Given the description of an element on the screen output the (x, y) to click on. 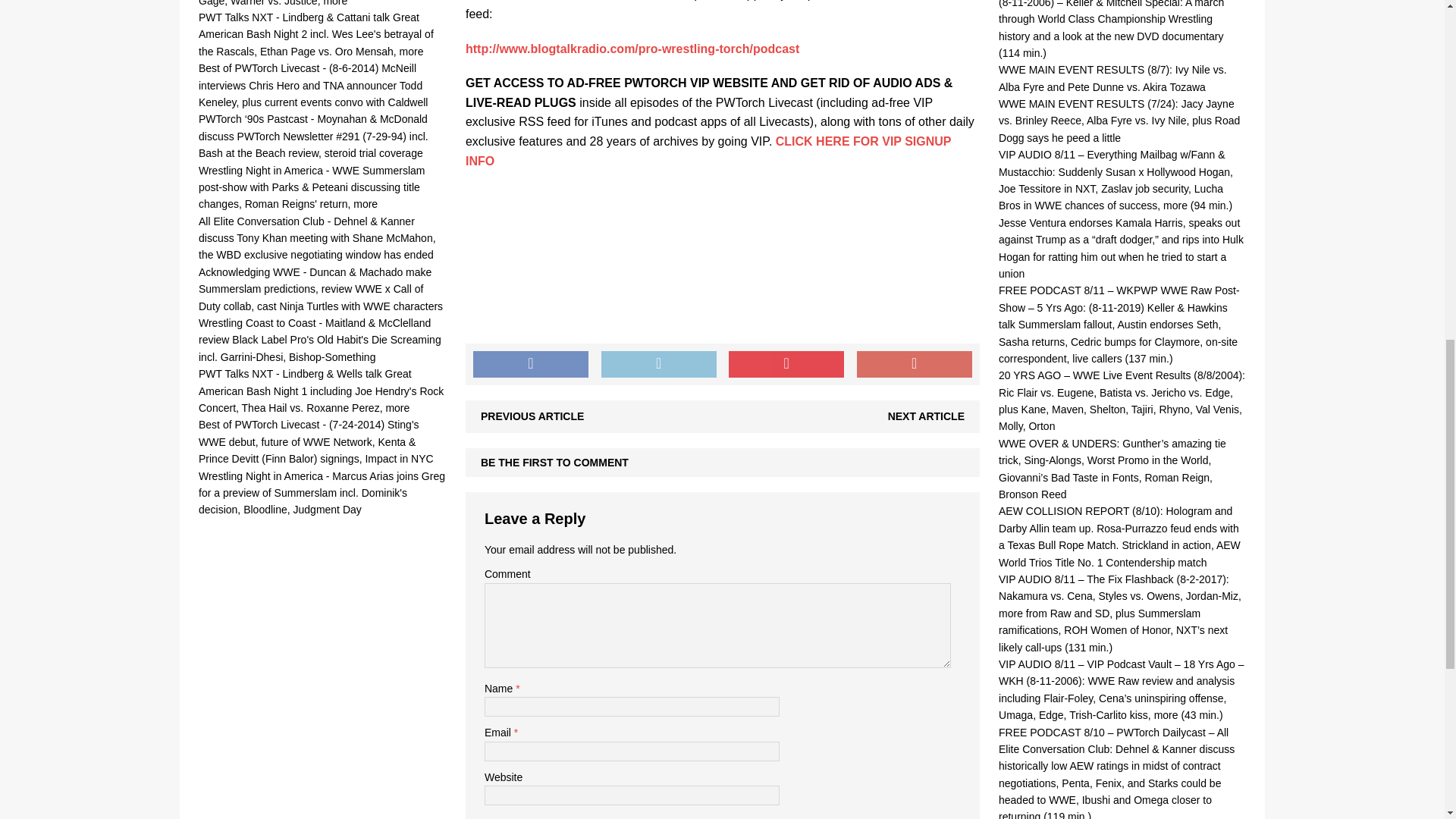
Tweet This Post (658, 364)
Pin This Post (786, 364)
Share on Facebook (530, 364)
